Given the description of an element on the screen output the (x, y) to click on. 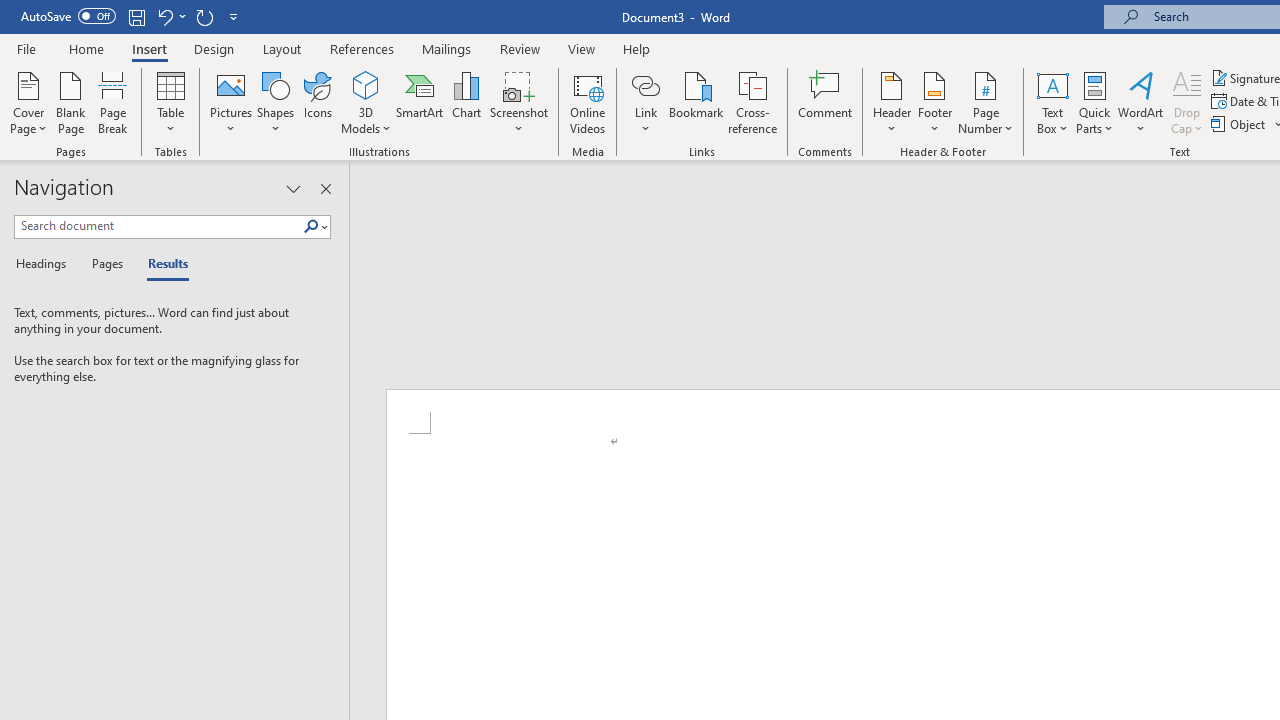
Undo New Page (164, 15)
View (582, 48)
Help (637, 48)
Mailings (447, 48)
Repeat Doc Close (204, 15)
References (362, 48)
Page Number (986, 102)
Pictures (230, 102)
Search (315, 227)
Review (520, 48)
Search (311, 227)
Cover Page (28, 102)
Shapes (275, 102)
Page Break (113, 102)
System (10, 11)
